Given the description of an element on the screen output the (x, y) to click on. 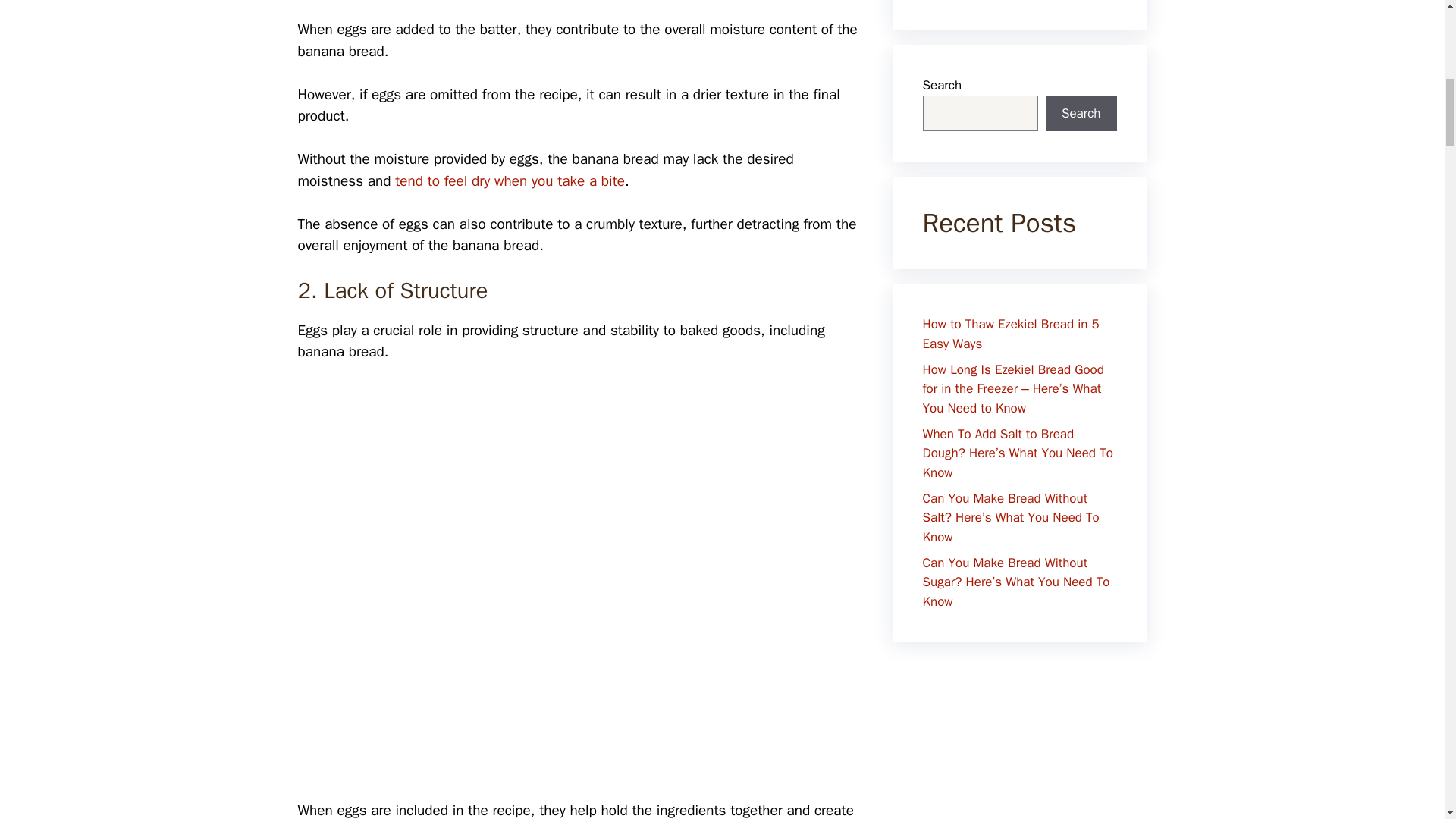
tend to feel dry when you take a bite (509, 180)
